Given the description of an element on the screen output the (x, y) to click on. 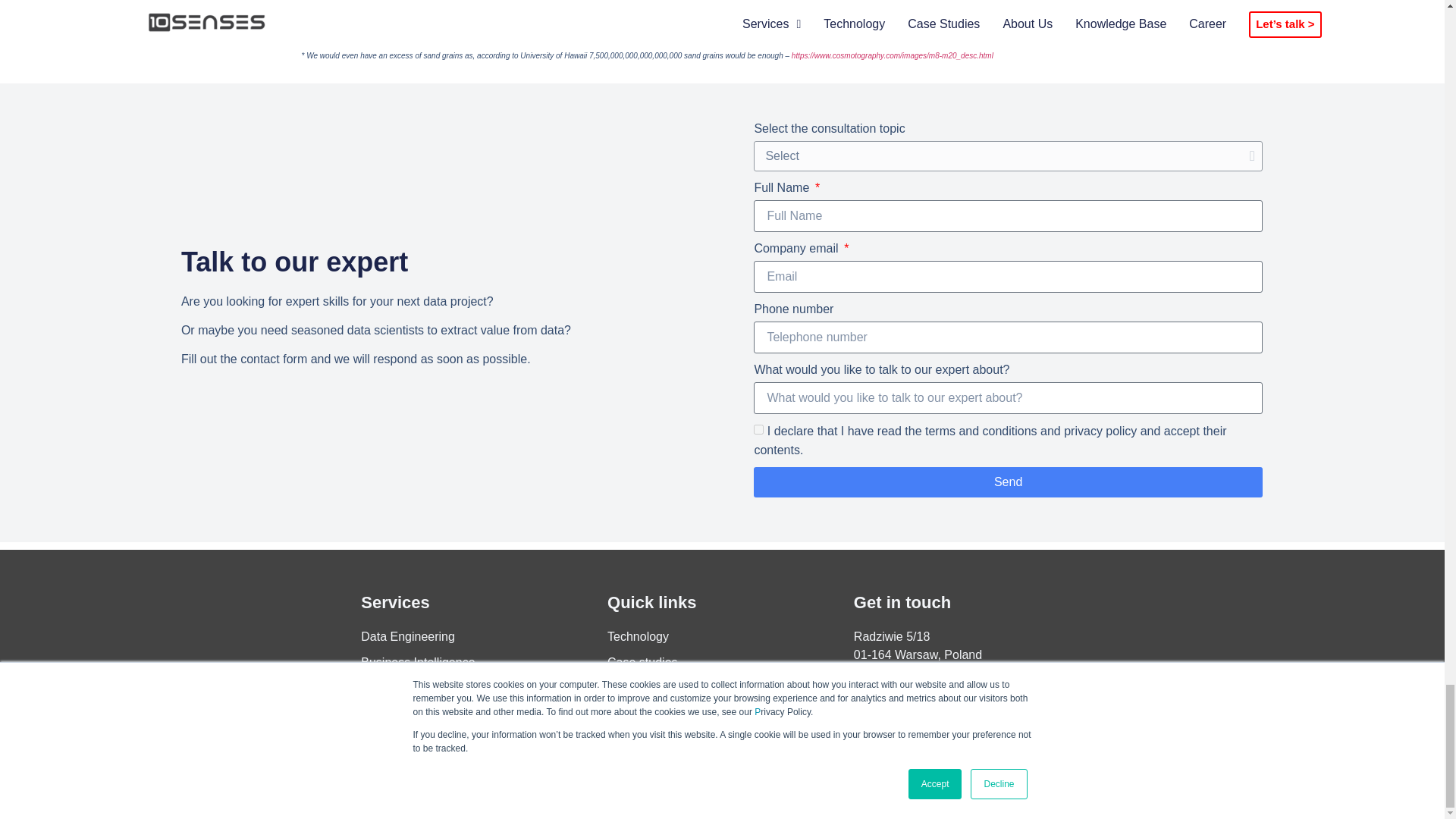
on (758, 429)
